Given the description of an element on the screen output the (x, y) to click on. 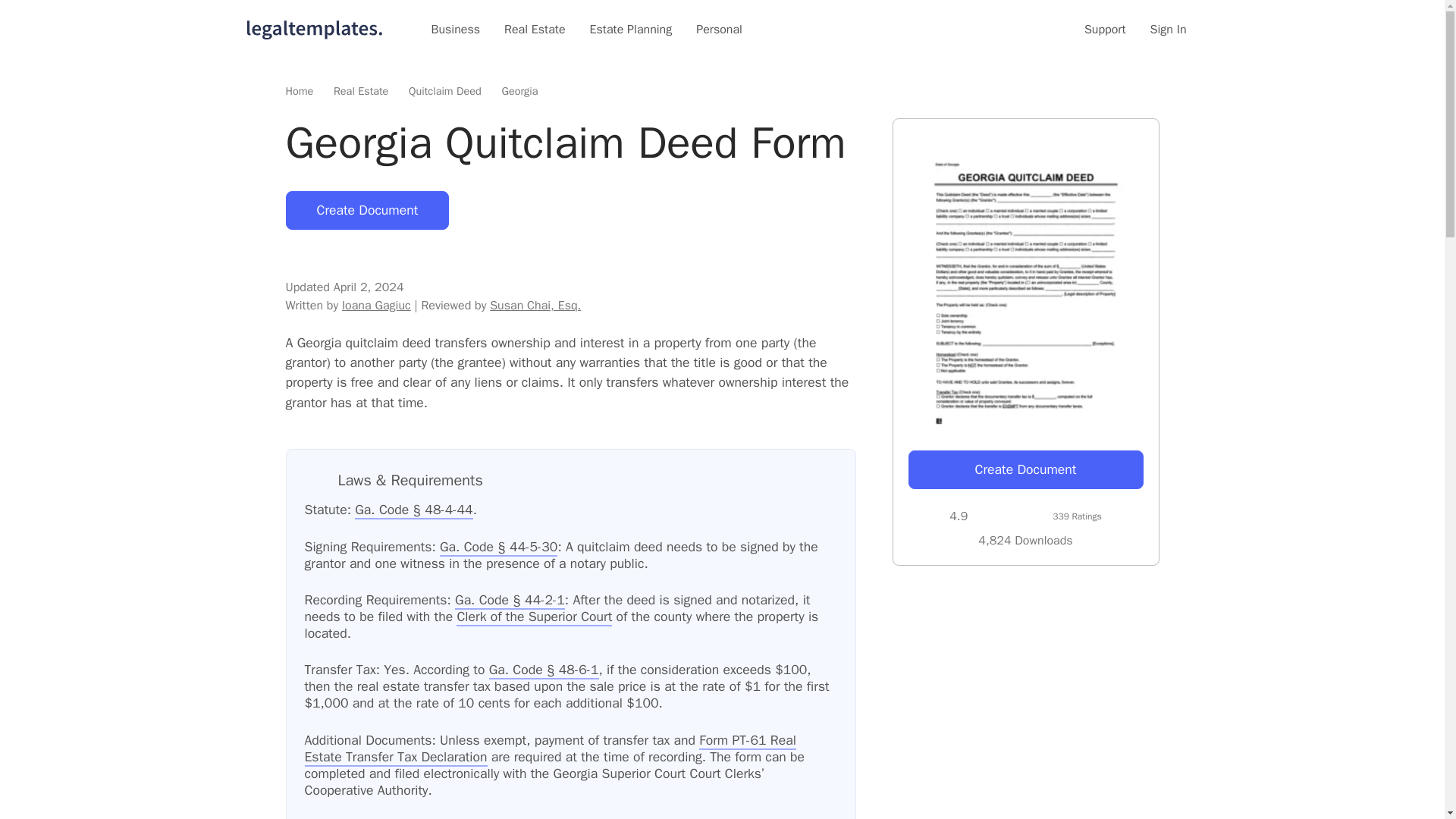
Support (1104, 29)
Business (455, 29)
Estate Planning (631, 29)
Personal (719, 29)
Legal Templates (313, 28)
Real Estate (535, 29)
